Given the description of an element on the screen output the (x, y) to click on. 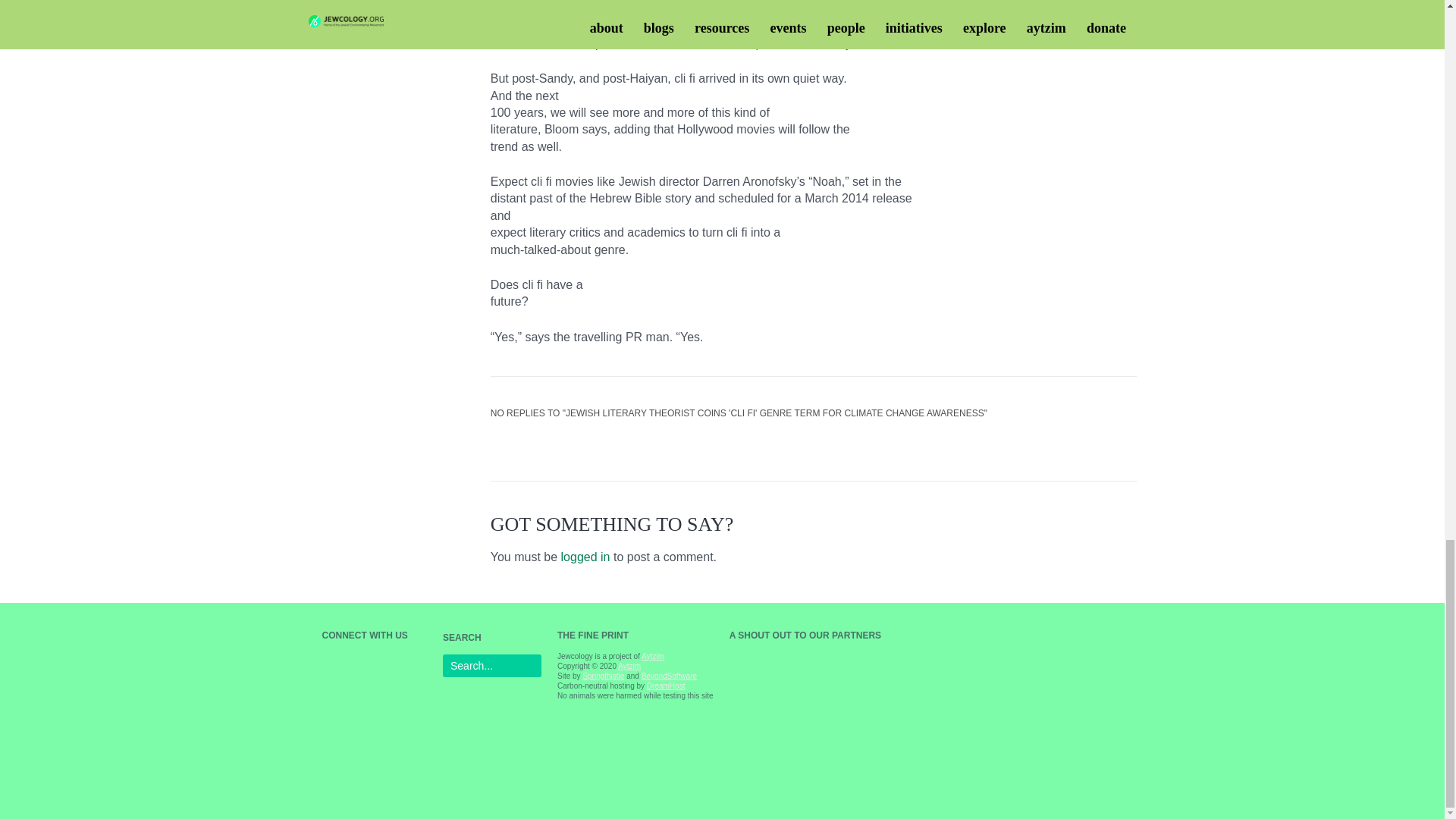
logged in (585, 556)
Aytzim (652, 655)
Aytzim (628, 665)
